Given the description of an element on the screen output the (x, y) to click on. 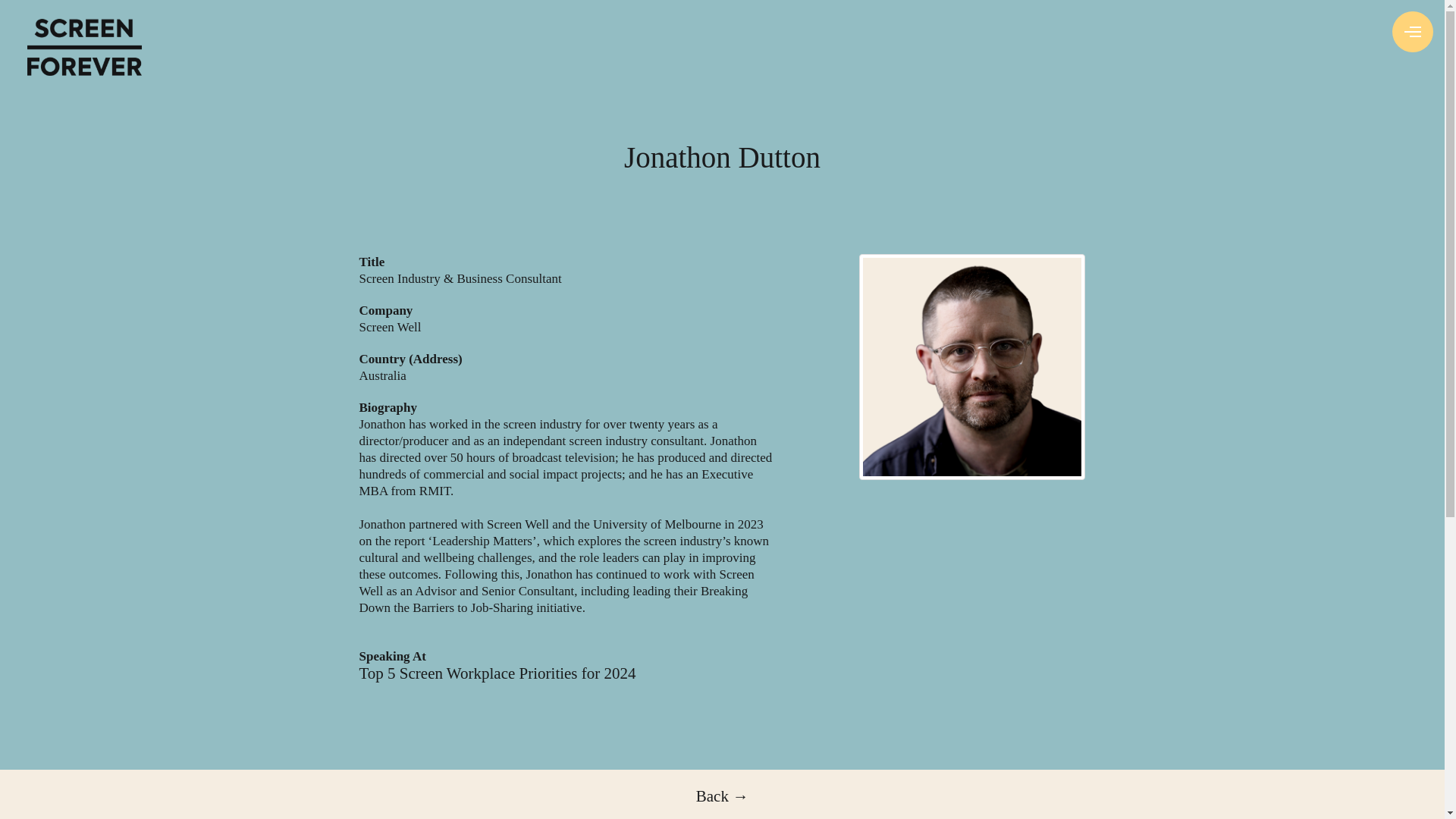
Top 5 Screen Workplace Priorities for 2024 (497, 673)
Session Details (497, 673)
Menu (1411, 31)
